Given the description of an element on the screen output the (x, y) to click on. 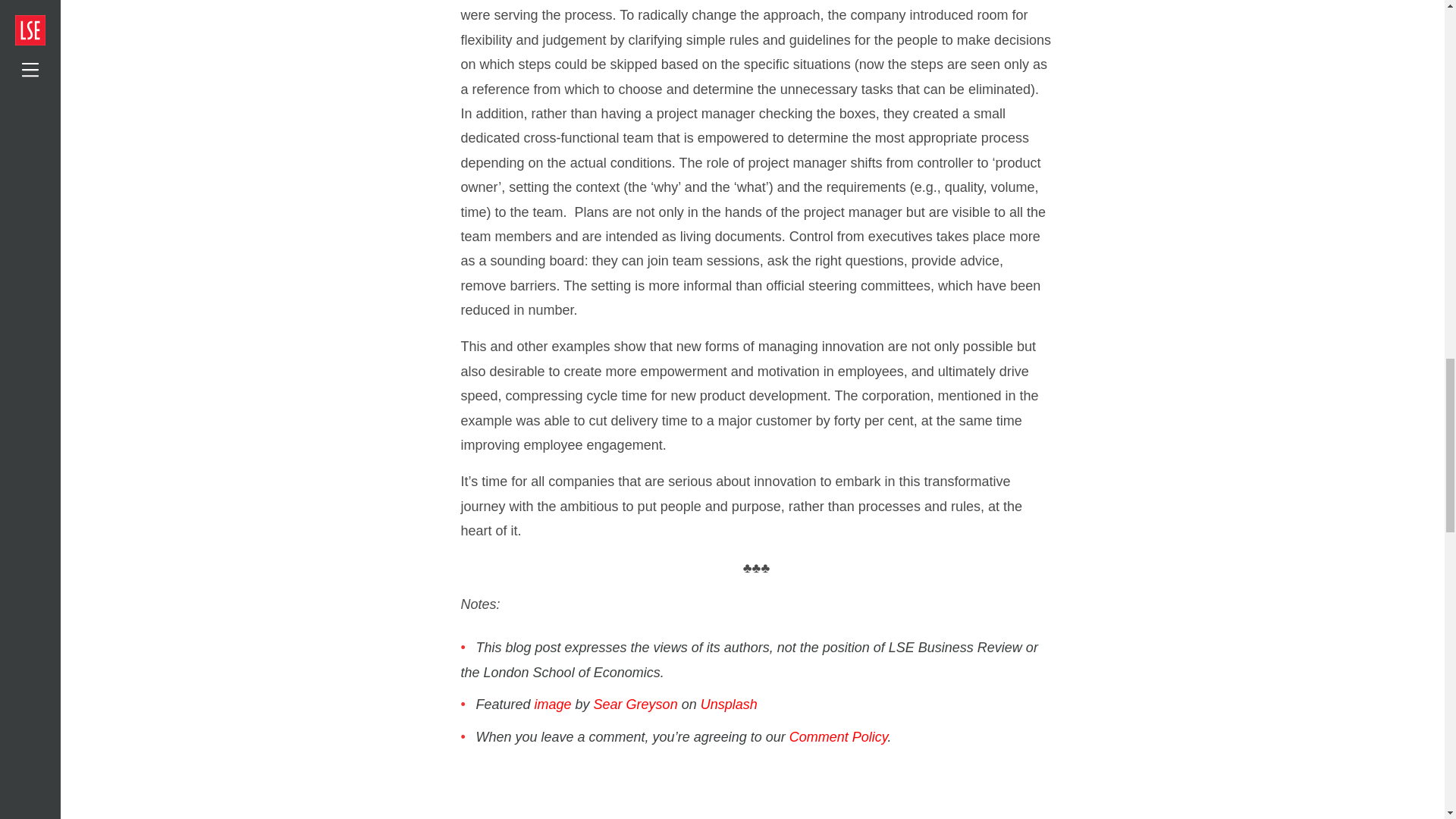
Unsplash (728, 703)
image (553, 703)
Comment Policy (838, 736)
Sear Greyson (636, 703)
